Given the description of an element on the screen output the (x, y) to click on. 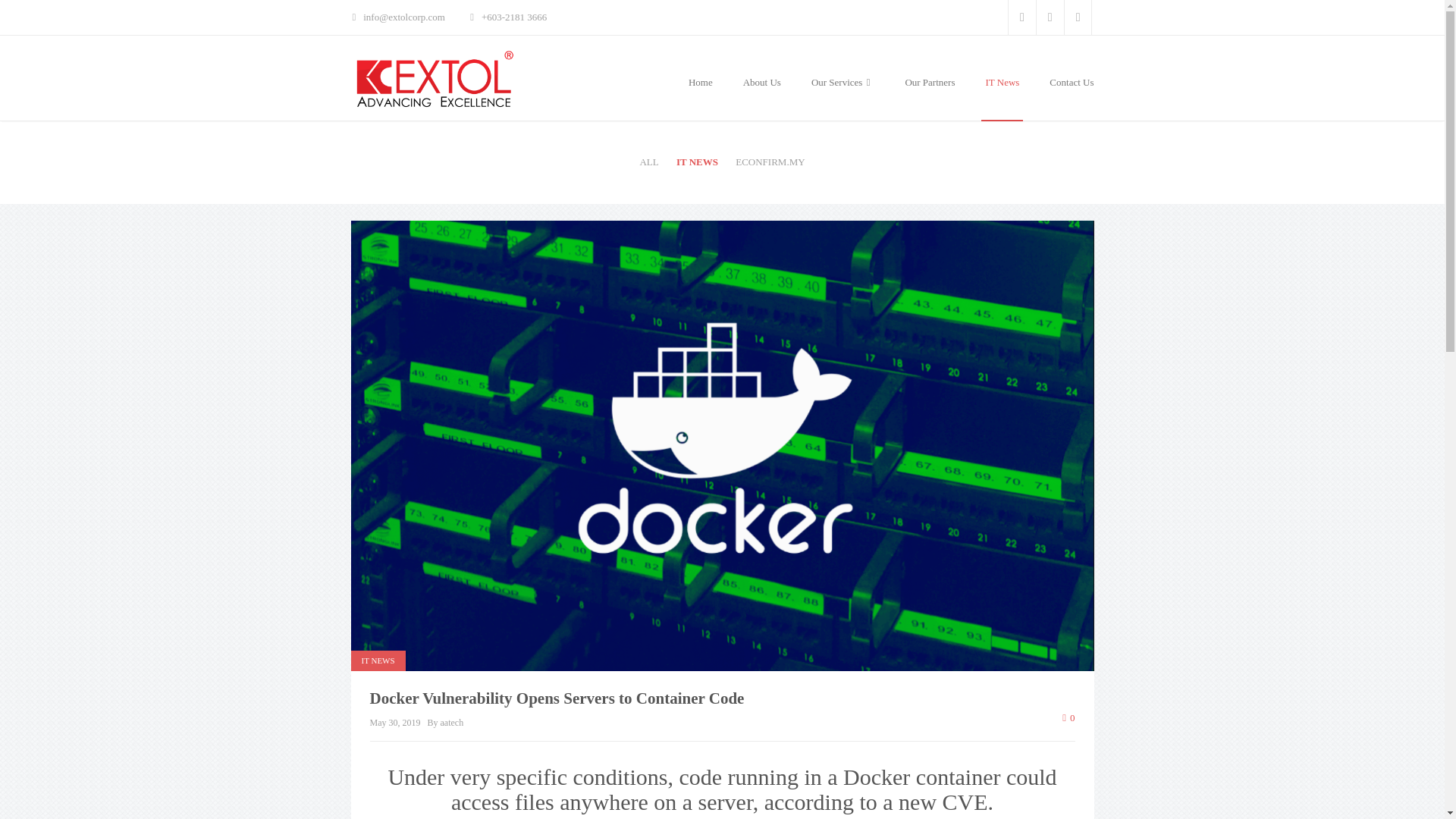
Our Services (843, 83)
Our Services (843, 83)
IT NEWS (377, 660)
IT NEWS (696, 162)
0 (1068, 717)
ECONFIRM.MY (770, 162)
ALL (648, 162)
